Given the description of an element on the screen output the (x, y) to click on. 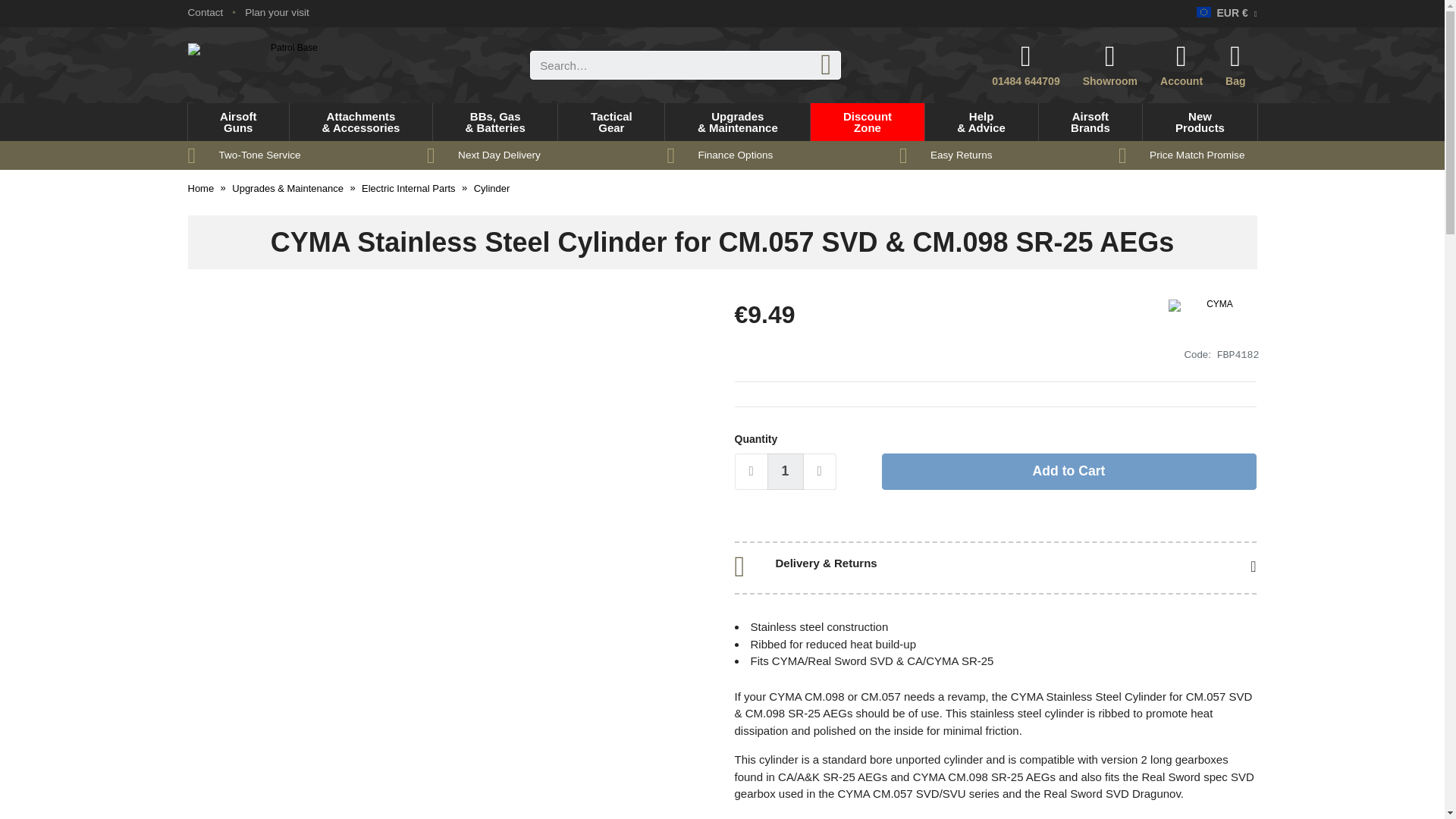
Patrol Base (287, 65)
Plan your visit (276, 12)
1 (785, 471)
Patrol Base (287, 65)
Account (1181, 65)
Bag (1240, 65)
Search (238, 121)
Account (825, 64)
01484 644709 (1181, 65)
CYMA (1025, 65)
Contact (1213, 320)
Bag (205, 12)
Search (1240, 65)
